Given the description of an element on the screen output the (x, y) to click on. 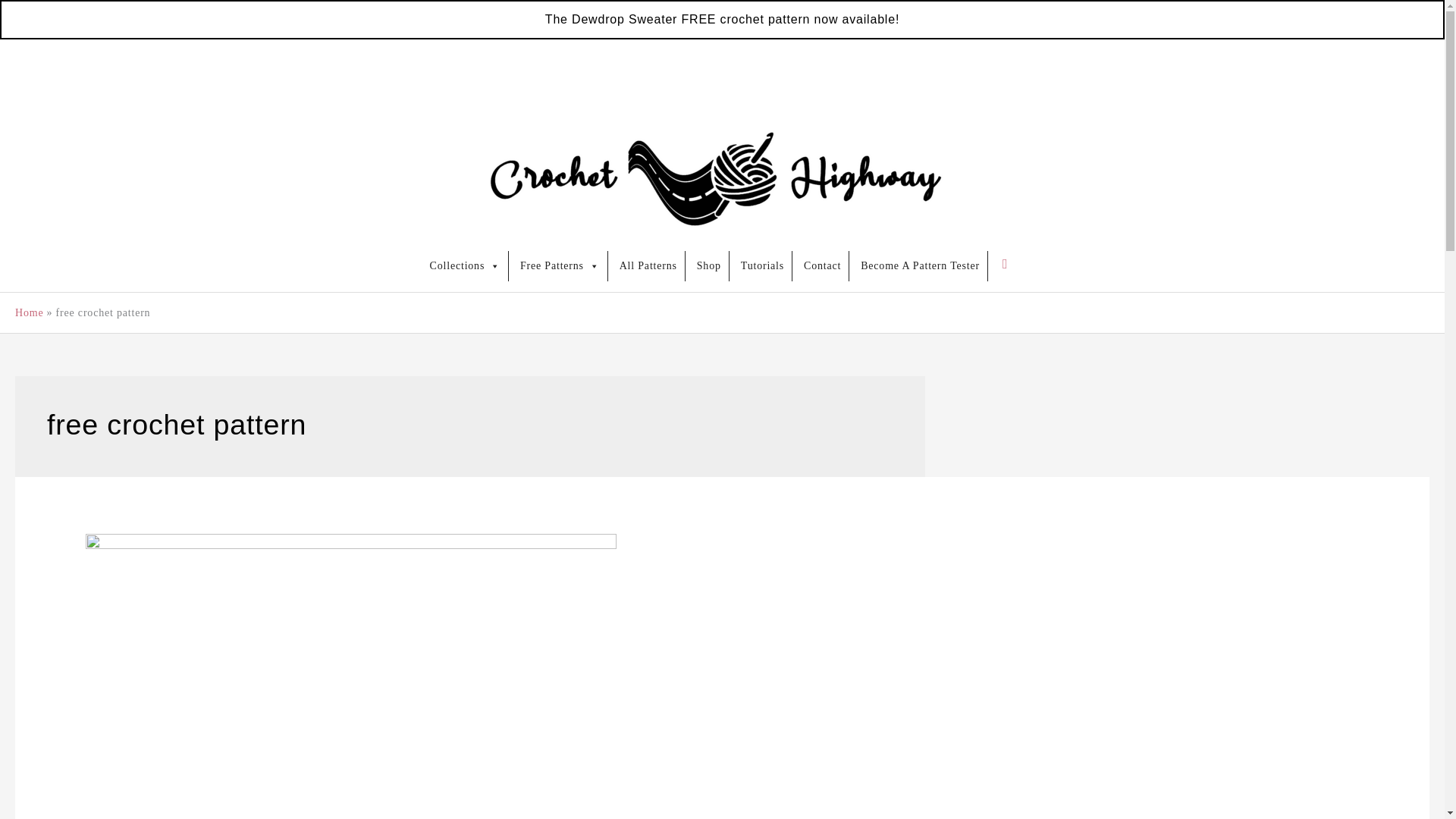
The Dewdrop Sweater FREE crochet pattern now available! (721, 19)
Shop (708, 265)
Collections (465, 265)
Home (28, 312)
Free Patterns (560, 265)
All Patterns (648, 265)
Tutorials (762, 265)
Become A Pattern Tester (920, 265)
Contact (822, 265)
